Given the description of an element on the screen output the (x, y) to click on. 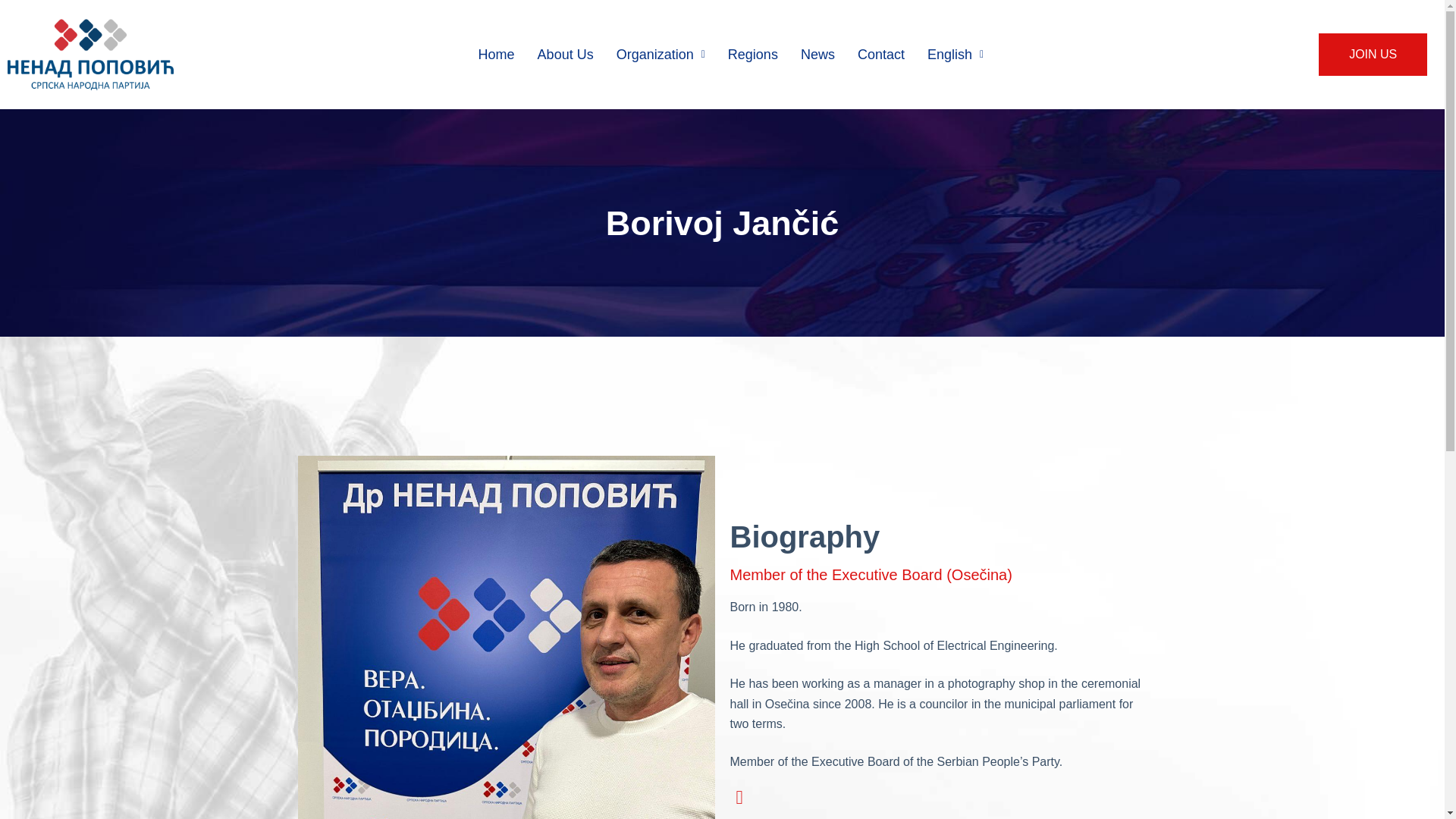
Organization (660, 54)
Home (496, 54)
JOIN US (1372, 54)
English (954, 54)
Regions (752, 54)
About Us (565, 54)
Skip to content (15, 7)
News (817, 54)
Contact (880, 54)
